Given the description of an element on the screen output the (x, y) to click on. 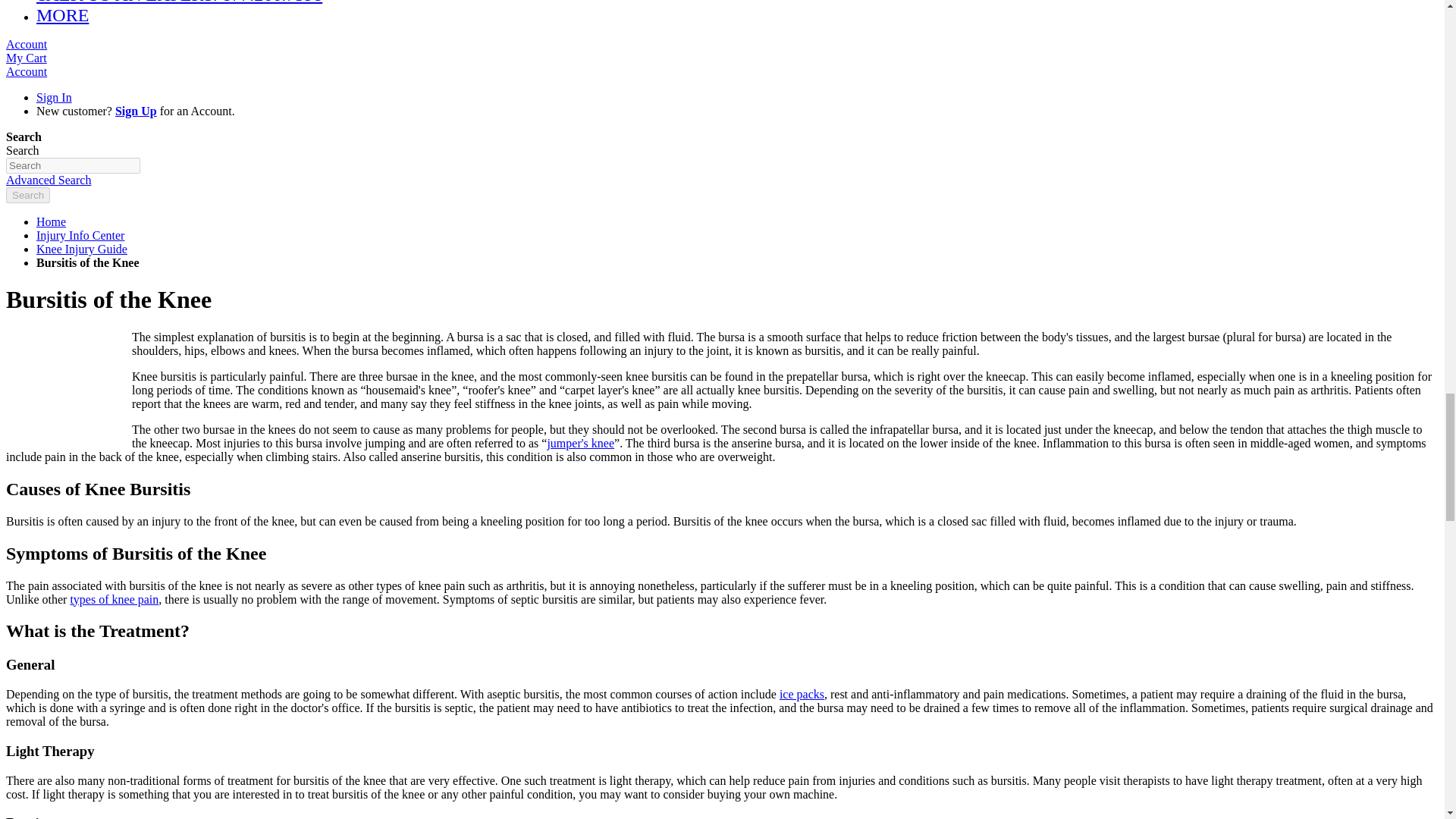
Injury Info Center (79, 235)
Go to Home Page (50, 221)
Knee Injury Guide (82, 248)
Search (27, 195)
